Given the description of an element on the screen output the (x, y) to click on. 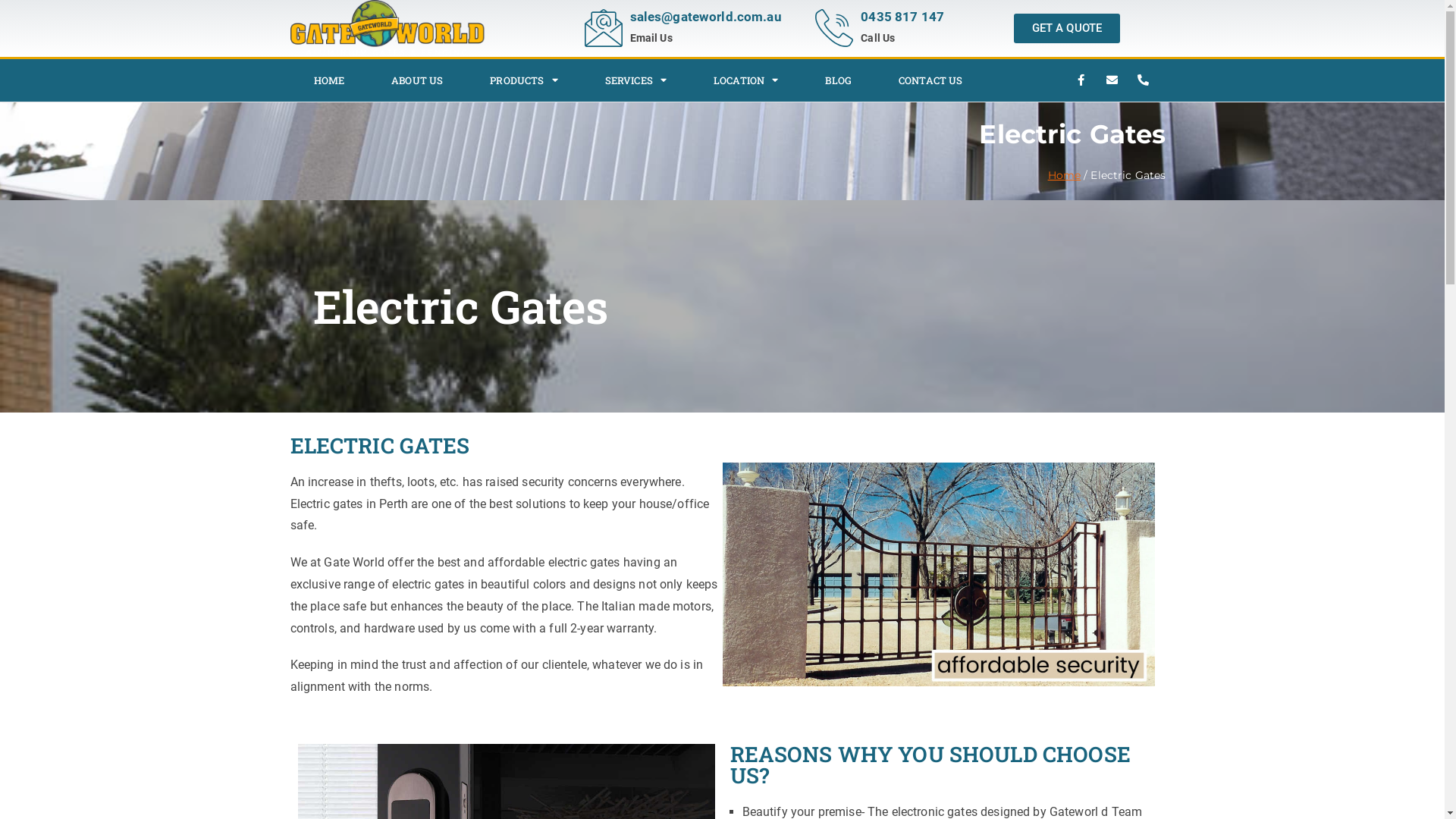
0435 817 147 Element type: text (902, 16)
CONTACT US Element type: text (930, 80)
sales@gateworld.com.au Element type: text (705, 16)
Home Element type: text (1064, 175)
SERVICES Element type: text (635, 80)
BLOG Element type: text (838, 80)
ABOUT US Element type: text (416, 80)
HOME Element type: text (328, 80)
LOCATION Element type: text (745, 80)
PRODUCTS Element type: text (523, 80)
GET A QUOTE Element type: text (1066, 28)
